Given the description of an element on the screen output the (x, y) to click on. 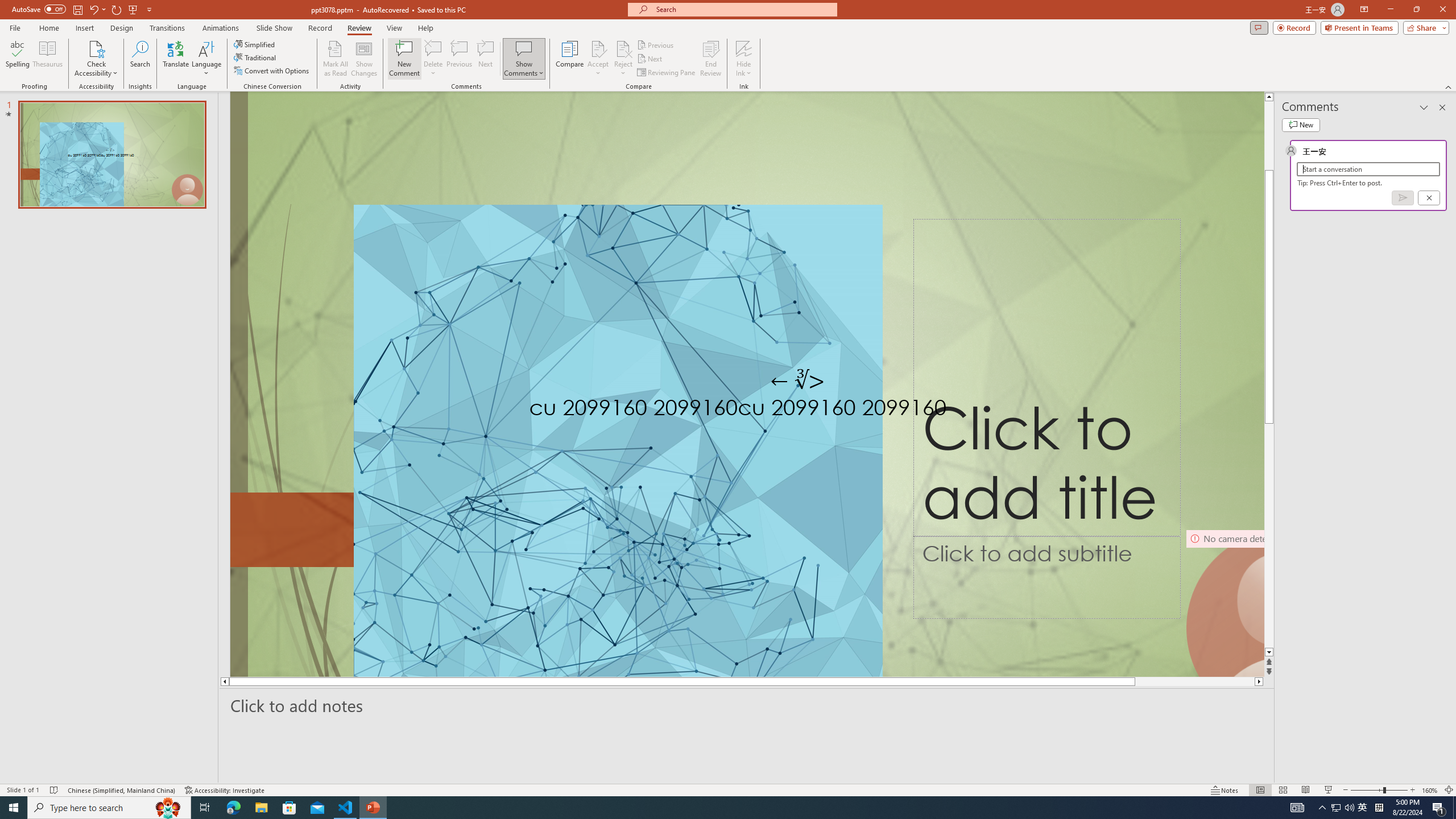
Camera 9, No camera detected. (1224, 602)
Reviewing Pane (666, 72)
Accept Change (598, 48)
Previous (655, 44)
